Given the description of an element on the screen output the (x, y) to click on. 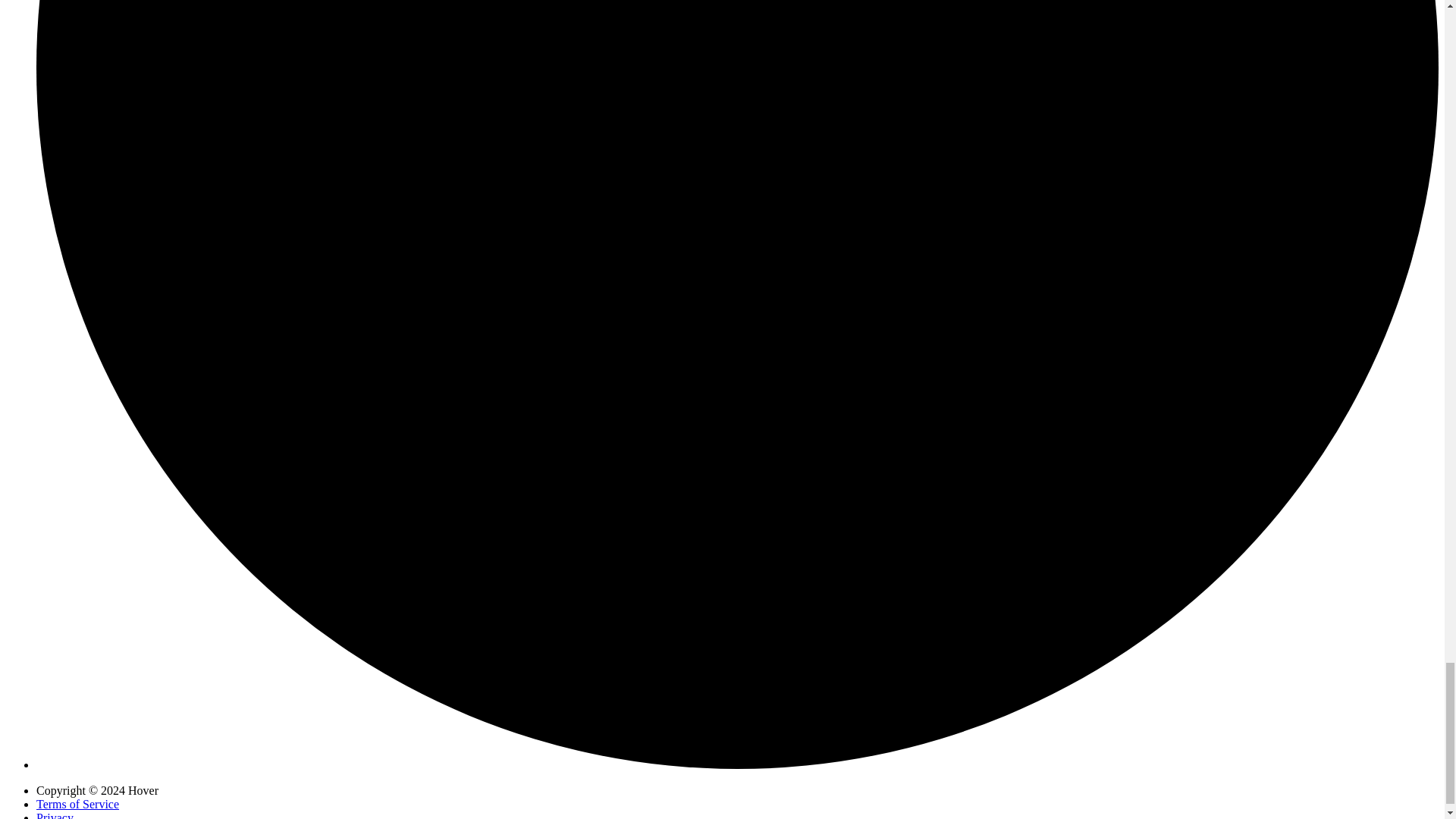
Terms of Service (77, 803)
